Given the description of an element on the screen output the (x, y) to click on. 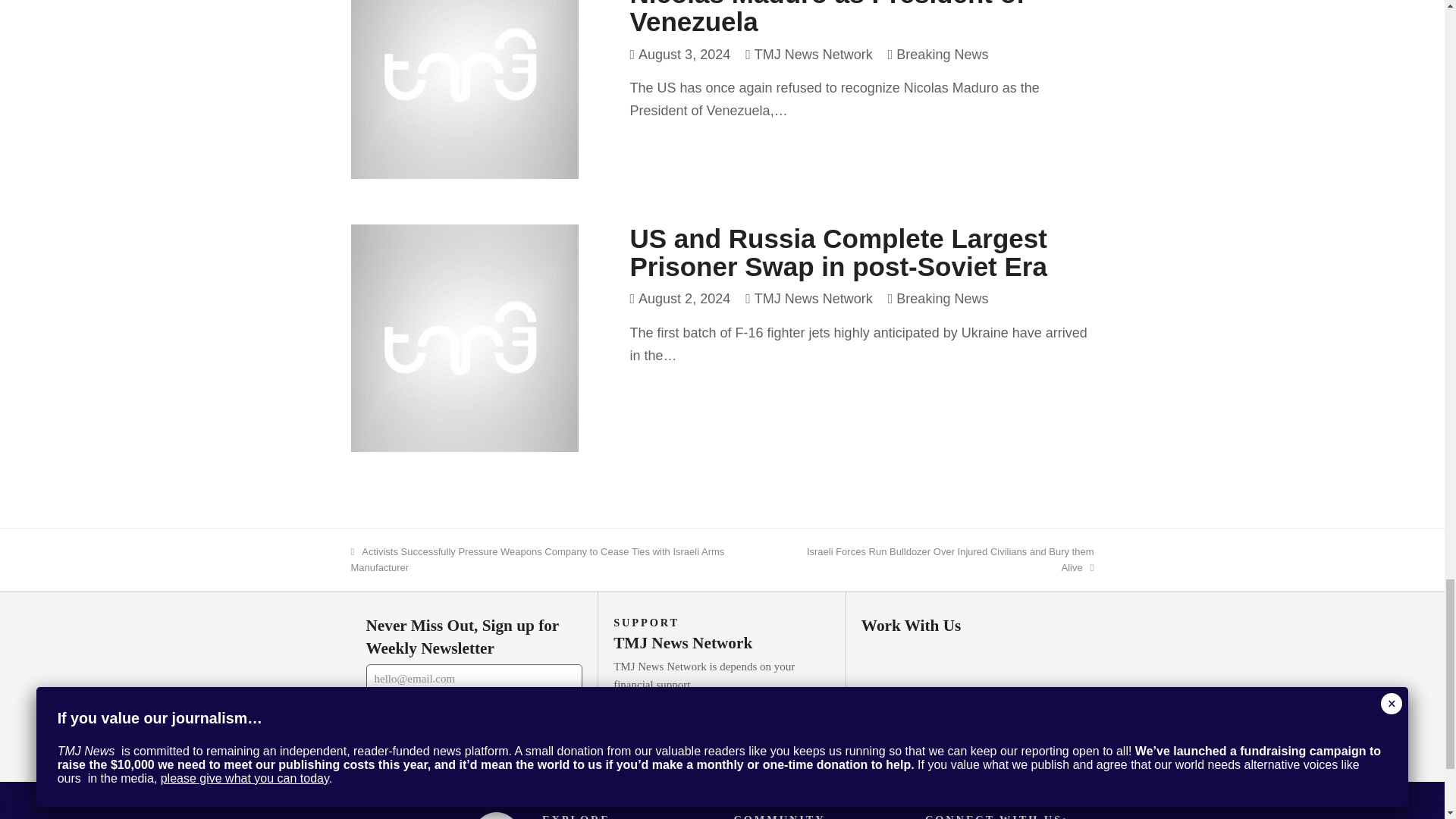
Subscribe (473, 715)
